Given the description of an element on the screen output the (x, y) to click on. 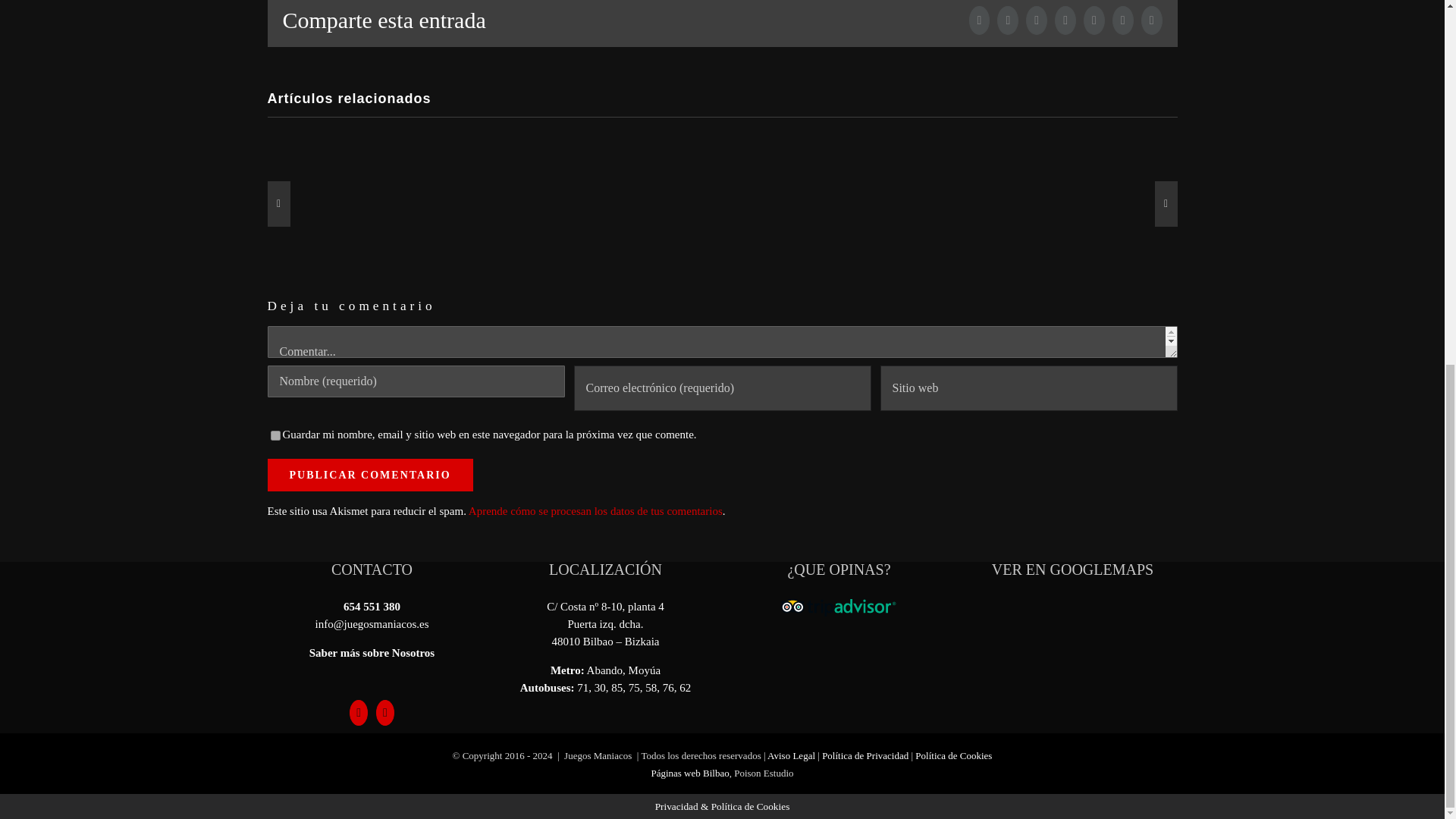
Publicar comentario (368, 474)
yes (274, 435)
Publicar comentario (368, 474)
